Given the description of an element on the screen output the (x, y) to click on. 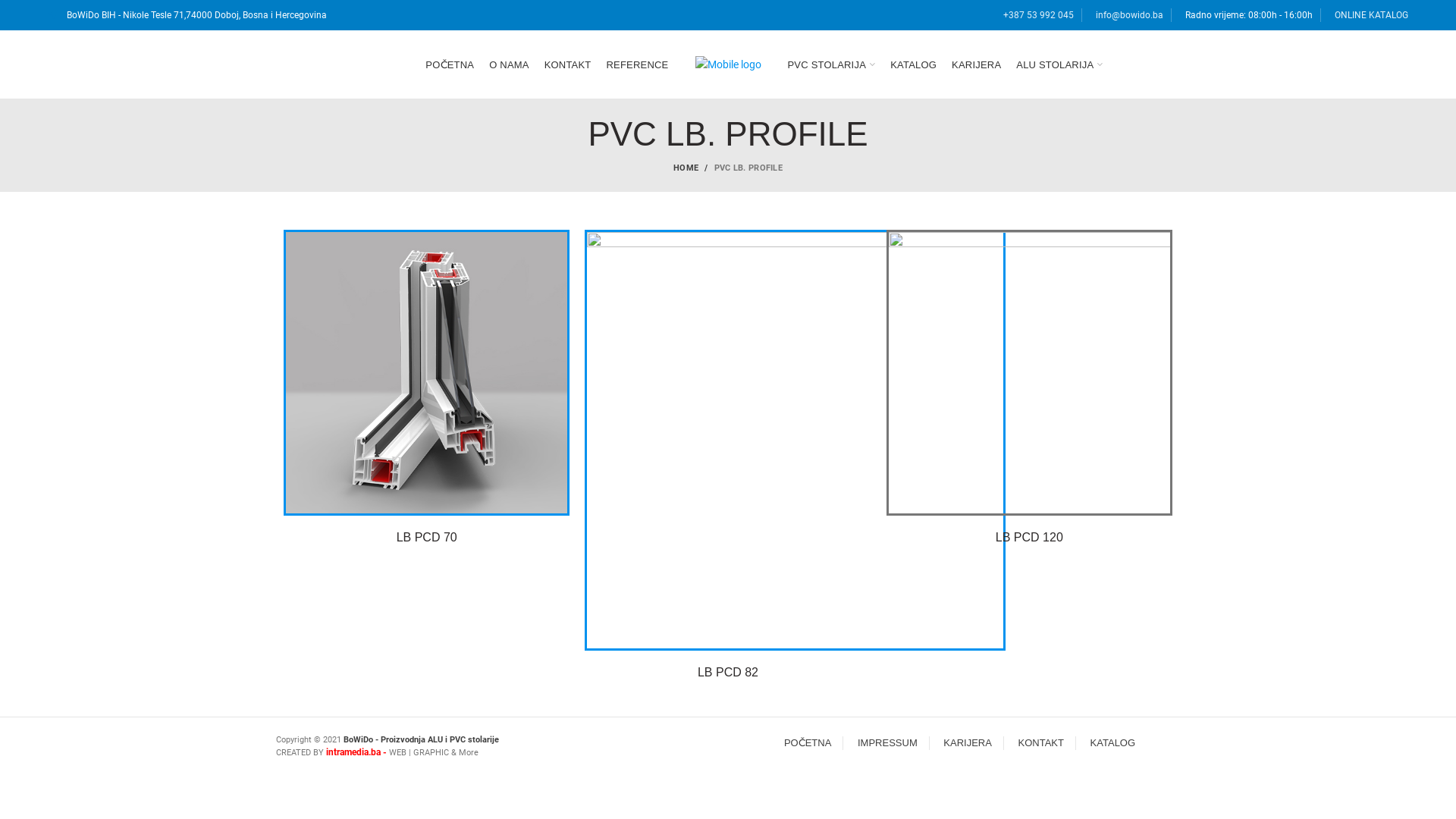
KATALOG Element type: text (1112, 742)
PVC STOLARIJA Element type: text (830, 64)
O NAMA Element type: text (508, 64)
ALU STOLARIJA Element type: text (1059, 64)
intramedia.ba - Element type: text (357, 752)
info@bowido.ba Element type: text (1129, 14)
KONTAKT Element type: text (567, 64)
IMPRESSUM Element type: text (887, 742)
LB PCD 70 Element type: text (426, 536)
BoWiDo - Proizvodnja ALU i PVC stolarije Element type: text (419, 739)
REFERENCE Element type: text (637, 64)
KARIJERA Element type: text (976, 64)
HOME Element type: text (693, 168)
KATALOG Element type: text (913, 64)
LB PCD 82 Element type: text (727, 671)
KONTAKT Element type: text (1040, 742)
ONLINE KATALOG Element type: text (1368, 14)
+387 53 992 045 Element type: text (1038, 14)
KARIJERA Element type: text (967, 742)
